Given the description of an element on the screen output the (x, y) to click on. 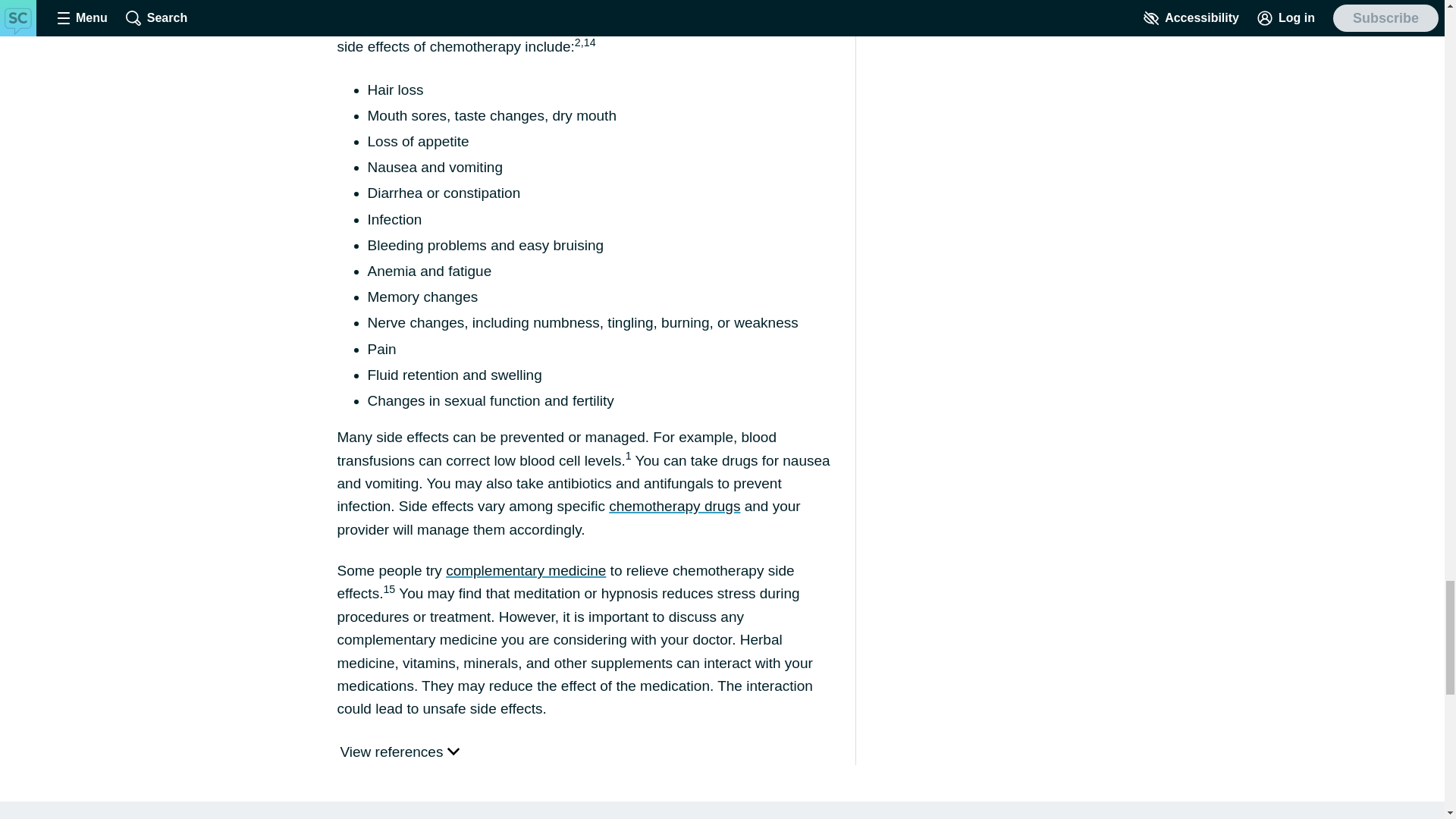
complementary medicine (525, 570)
View references caret icon (398, 751)
chemotherapy drugs (673, 505)
caret icon (453, 750)
